Given the description of an element on the screen output the (x, y) to click on. 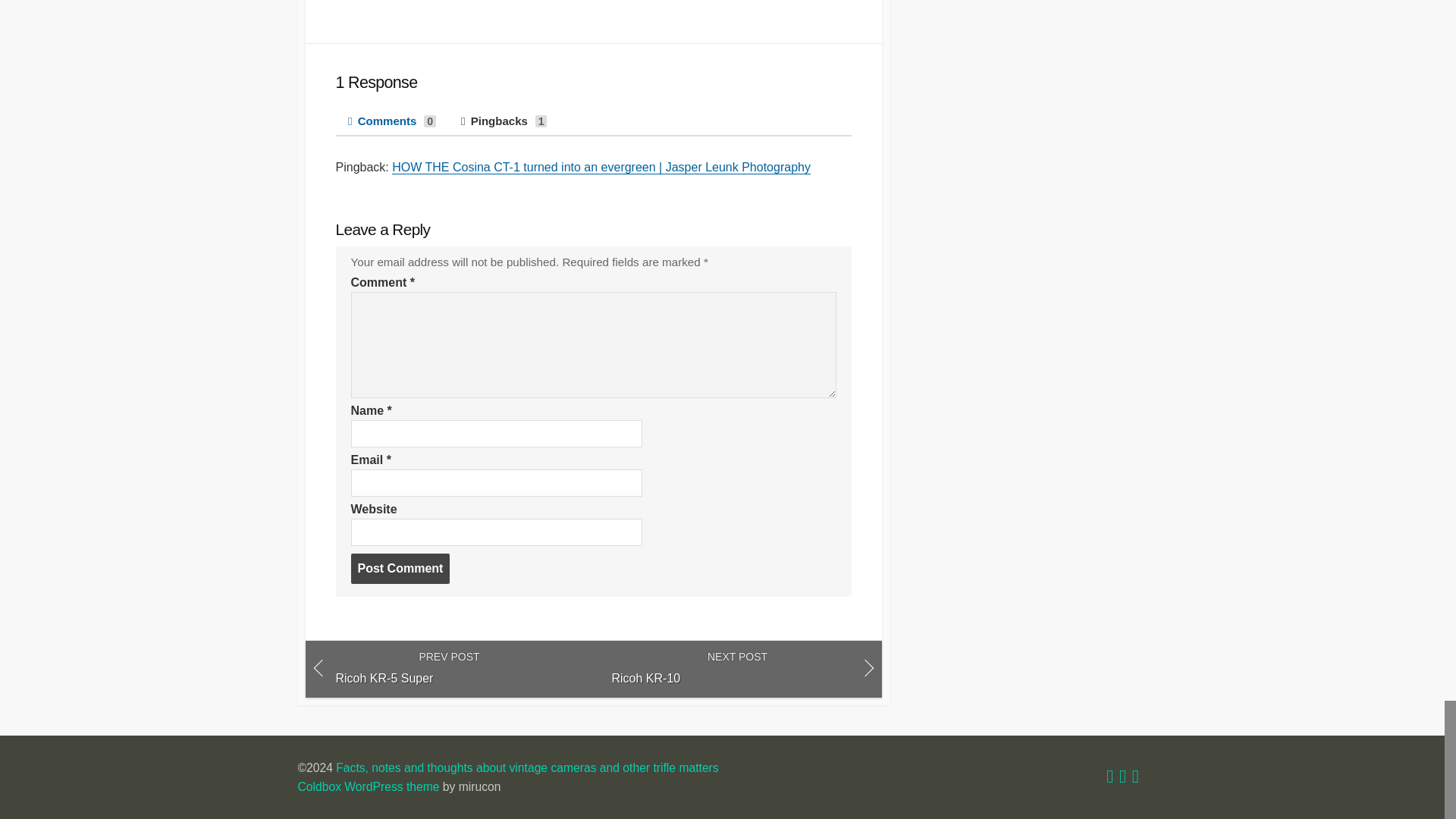
Facebook (1122, 778)
Post Comment (399, 568)
Instagram (1135, 778)
Twitter (1109, 778)
Comments 0 (391, 121)
Pingbacks 1 (504, 121)
